Given the description of an element on the screen output the (x, y) to click on. 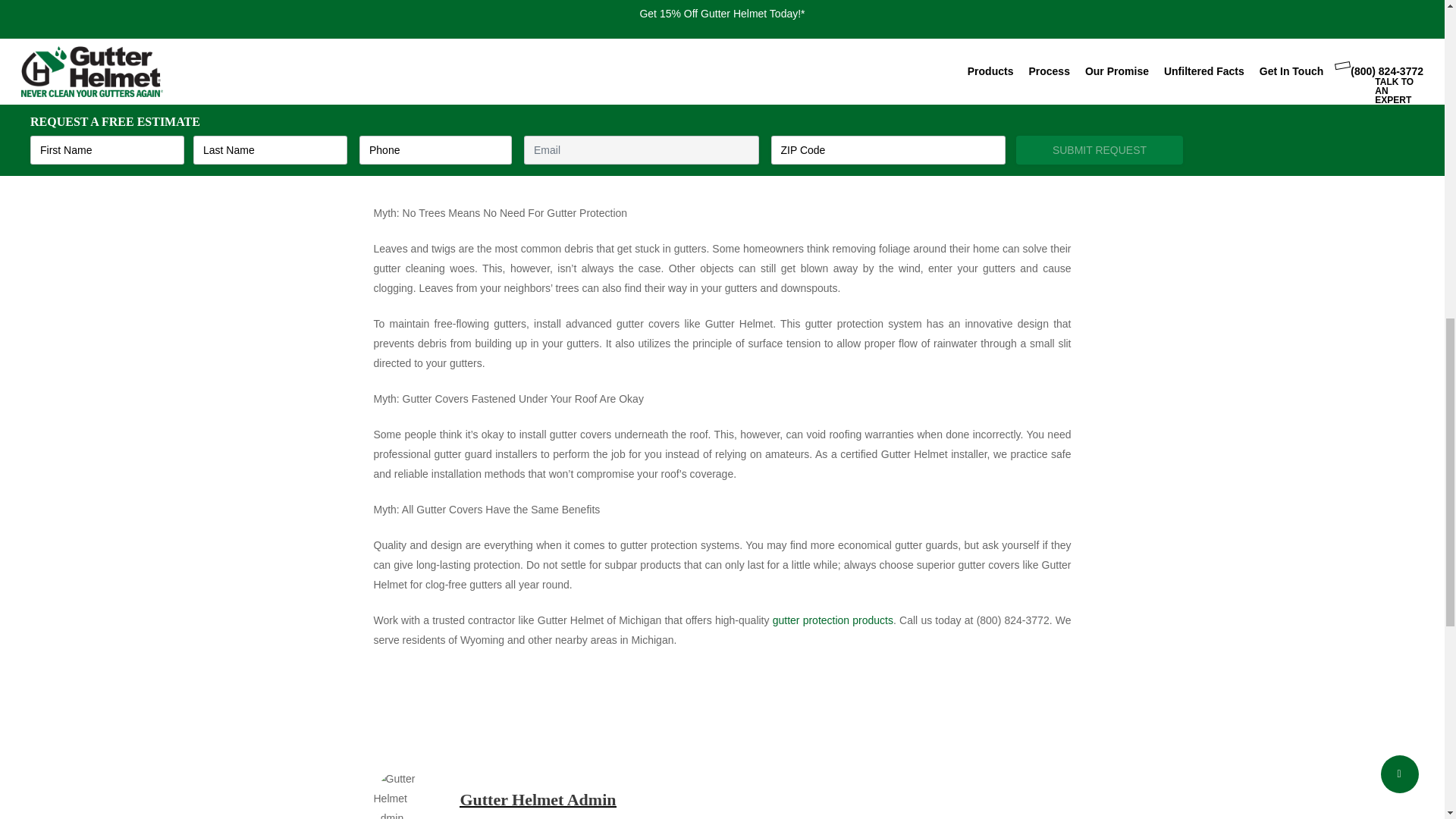
Debunking 3 Common Gutter Cover Myths (722, 84)
Gutter Helmet Admin (537, 799)
gutter protection products (833, 620)
